Given the description of an element on the screen output the (x, y) to click on. 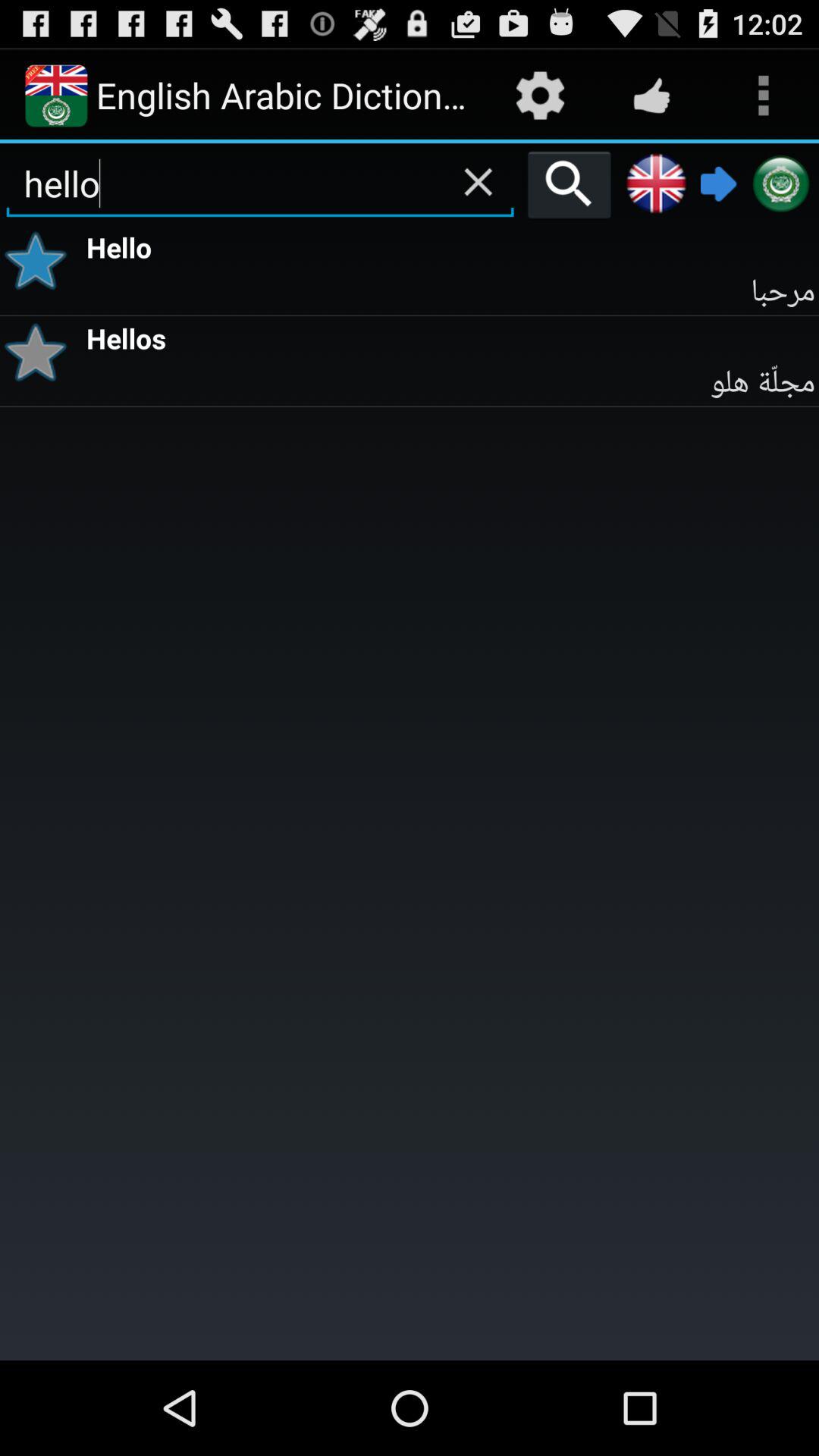
add bookmark (41, 351)
